Given the description of an element on the screen output the (x, y) to click on. 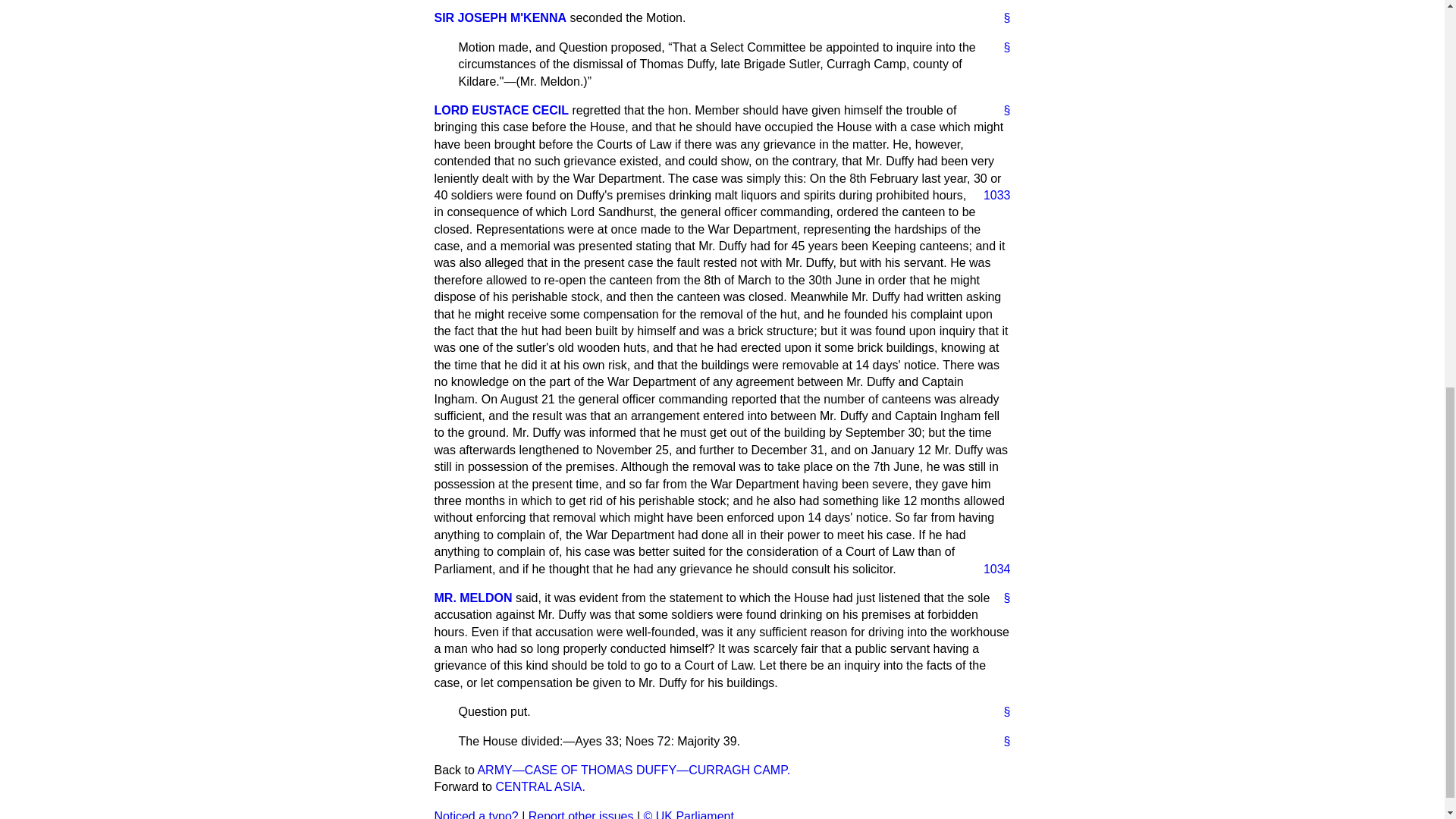
Lord Eustace Cecil (500, 110)
1034 (990, 569)
Link to this contribution (1000, 741)
Link to this speech by Sir Joseph McKenna (1000, 17)
SIR JOSEPH M'KENNA (499, 17)
LORD EUSTACE CECIL (500, 110)
Link to this contribution (1000, 47)
Link to this speech by Mr Charles Meldon (1000, 597)
Link to this contribution (1000, 711)
CENTRAL ASIA. (540, 786)
